Given the description of an element on the screen output the (x, y) to click on. 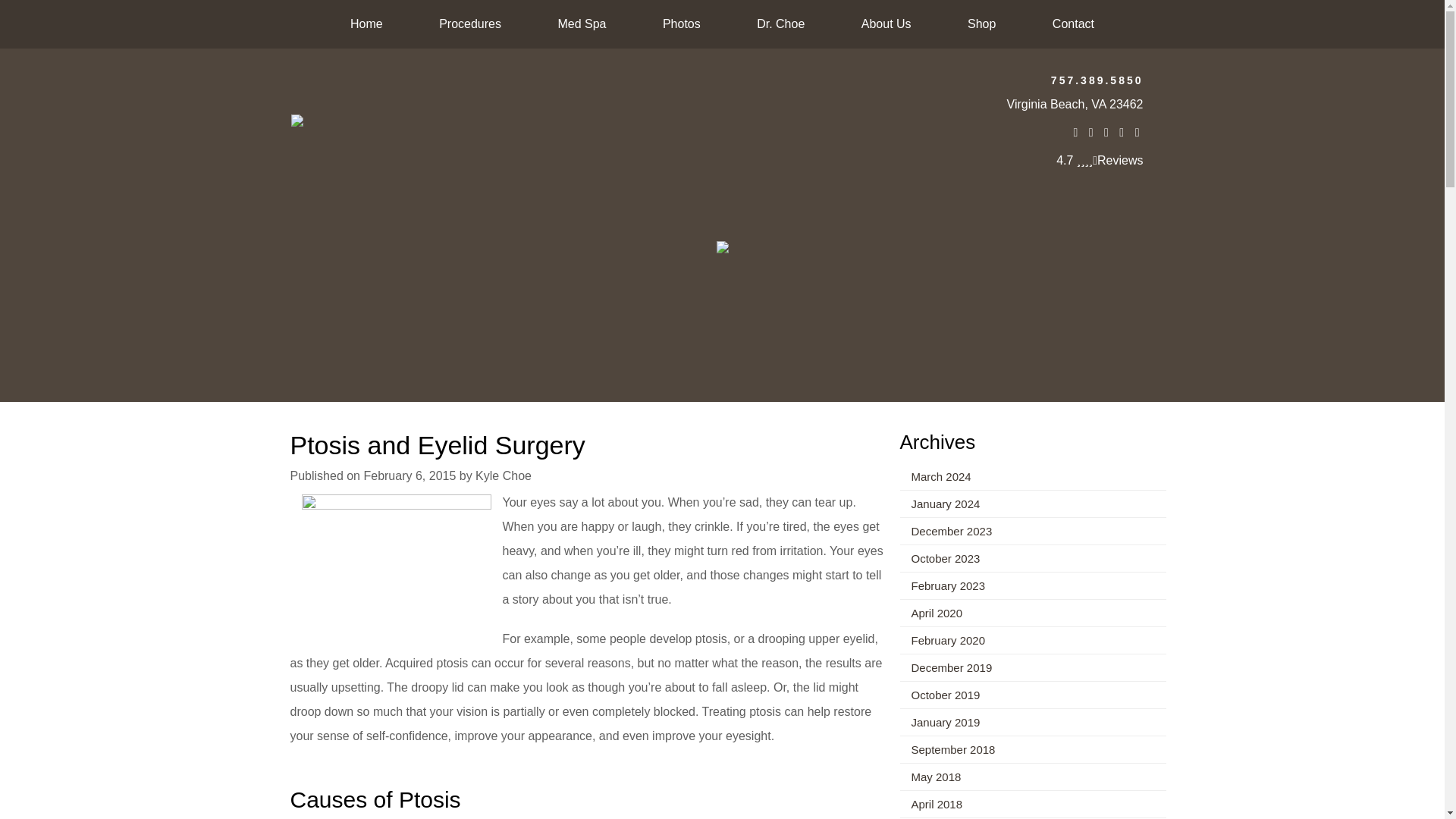
Procedures (469, 24)
Med Spa (581, 24)
The Choe Center, Kyle S. Choe, MD, FACS, Virginia Beach, VA (296, 119)
The Choe Center, Kyle S. Choe, MD, FACS, Virginia Beach, VA (722, 245)
Home (366, 24)
